Given the description of an element on the screen output the (x, y) to click on. 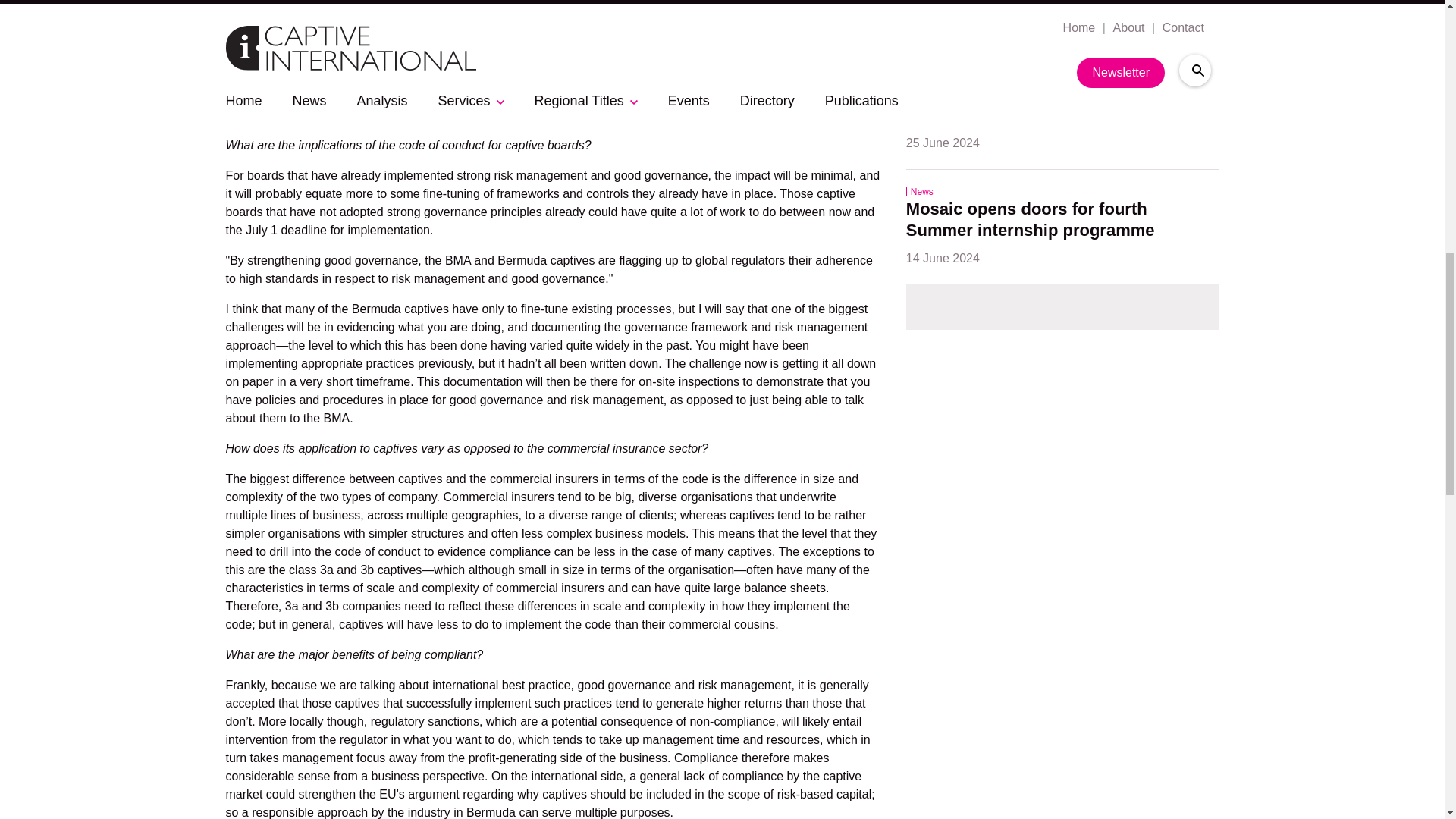
Guy Carpenter: global headwinds impact risk appetites (1040, 5)
Mosaic opens doors for fourth Summer internship programme (1029, 220)
